Given the description of an element on the screen output the (x, y) to click on. 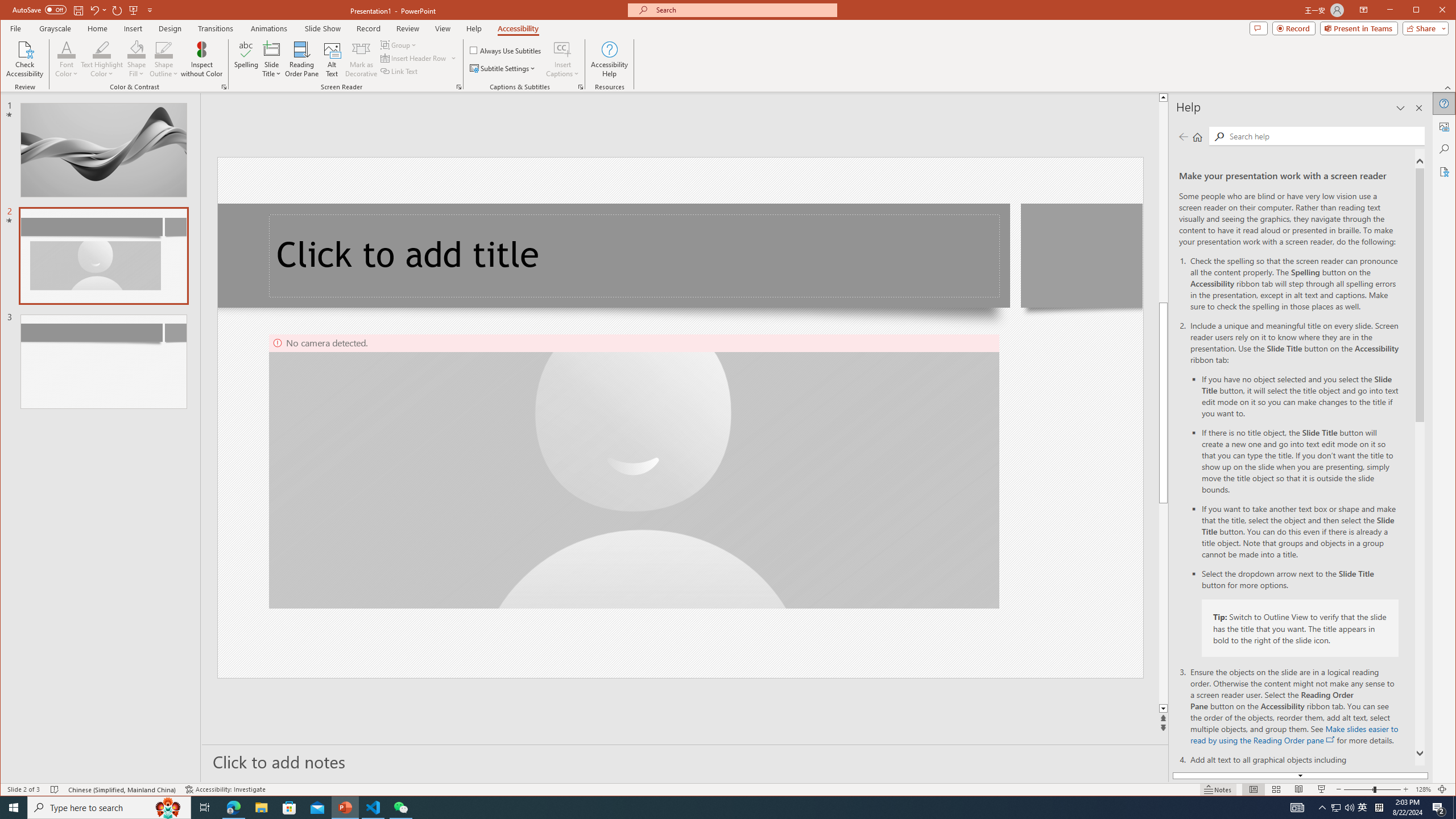
Title TextBox (634, 255)
Task Pane Options (1400, 107)
Screen Reader (458, 86)
Slide Title (271, 48)
